Given the description of an element on the screen output the (x, y) to click on. 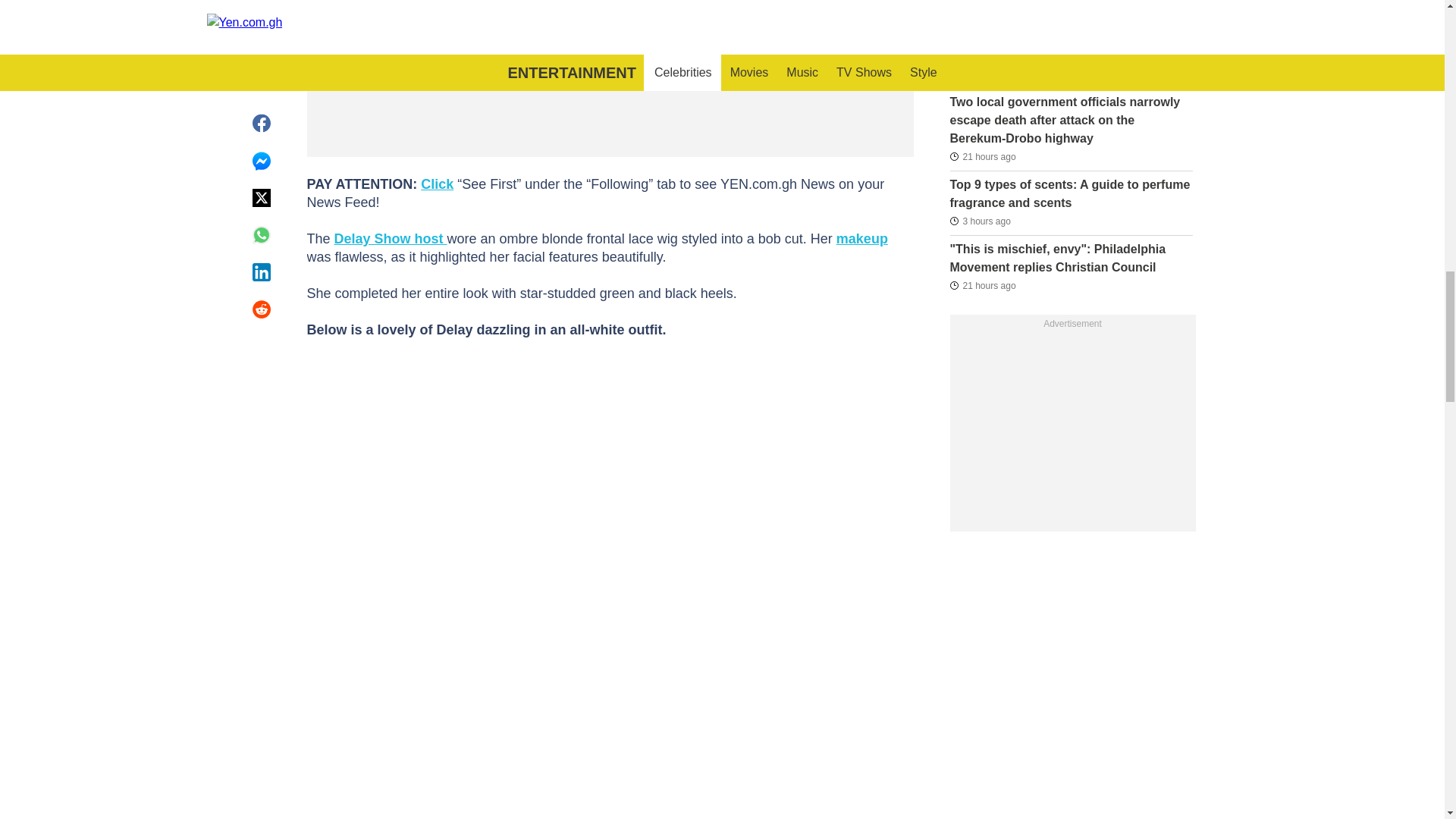
2024-07-25T09:17:40Z (981, 74)
2024-07-25T08:50:27Z (981, 285)
2024-07-25T09:02:49Z (981, 156)
2024-07-26T02:40:45Z (979, 221)
2024-07-25T23:15:21Z (979, 9)
